Given the description of an element on the screen output the (x, y) to click on. 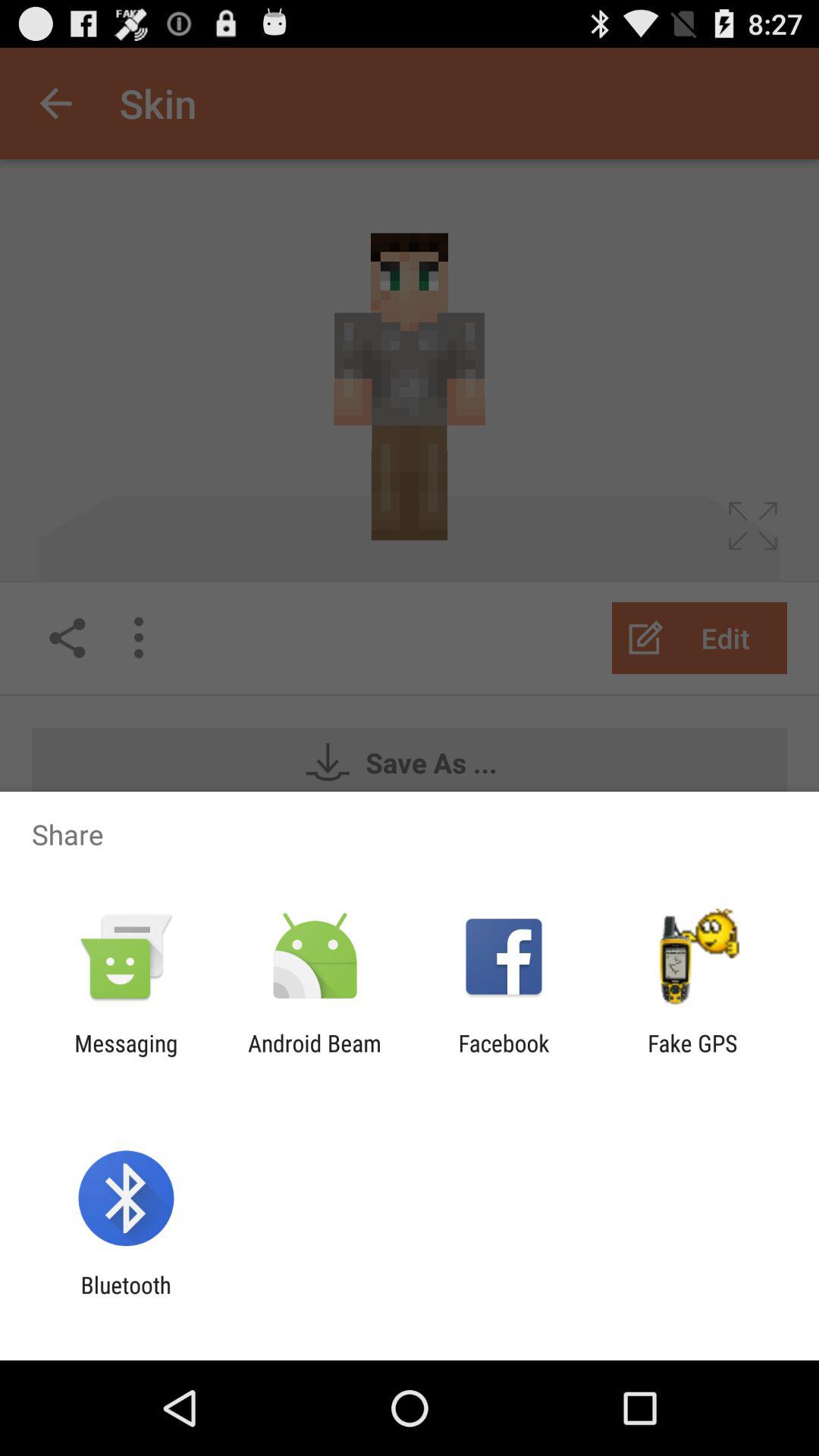
click icon next to facebook app (692, 1056)
